Given the description of an element on the screen output the (x, y) to click on. 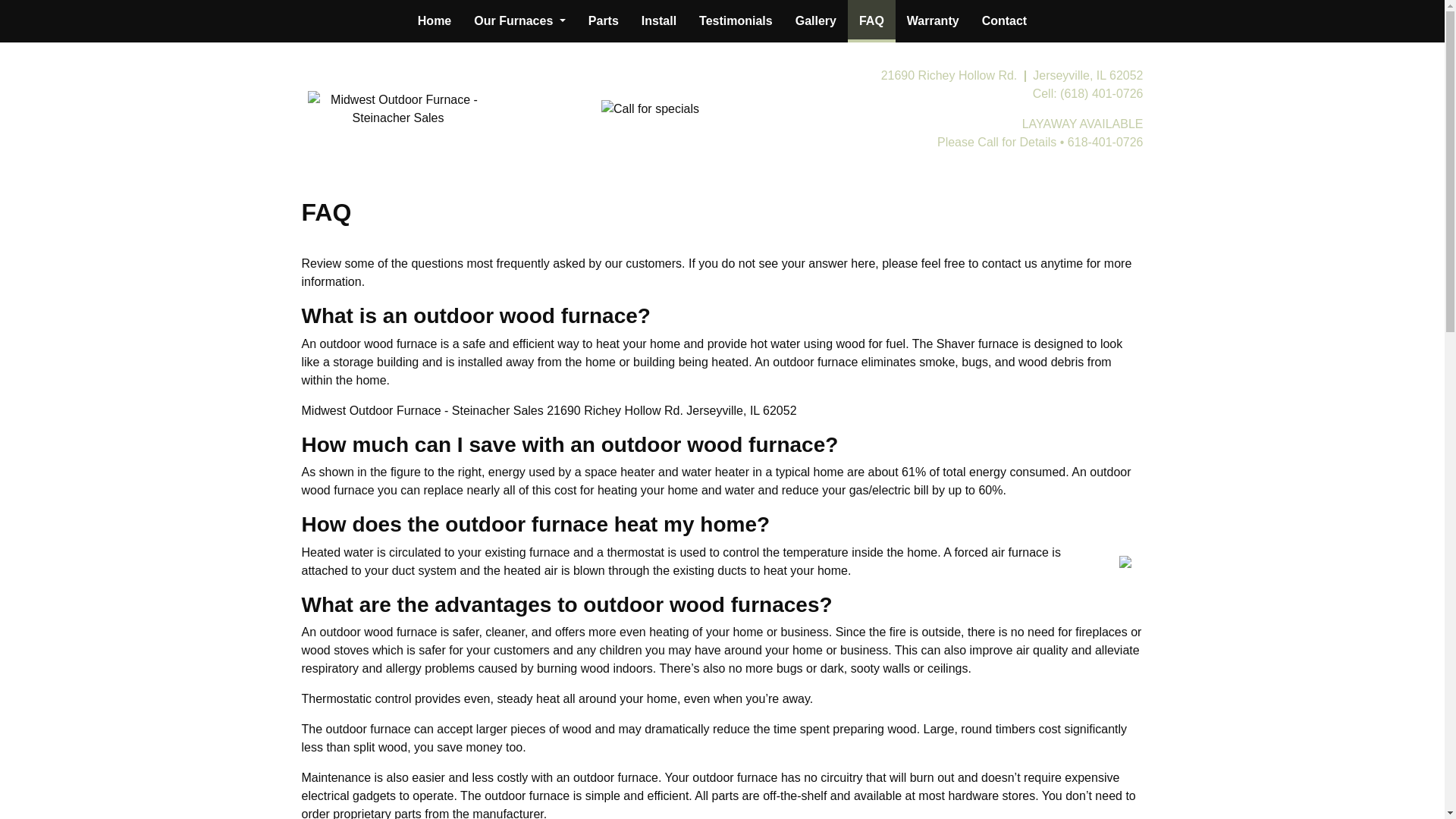
Gallery (815, 21)
Home (434, 21)
Install (658, 21)
Parts (603, 21)
Testimonials (735, 21)
Contact (1005, 21)
Warranty (933, 21)
Our Furnaces (519, 21)
